Given the description of an element on the screen output the (x, y) to click on. 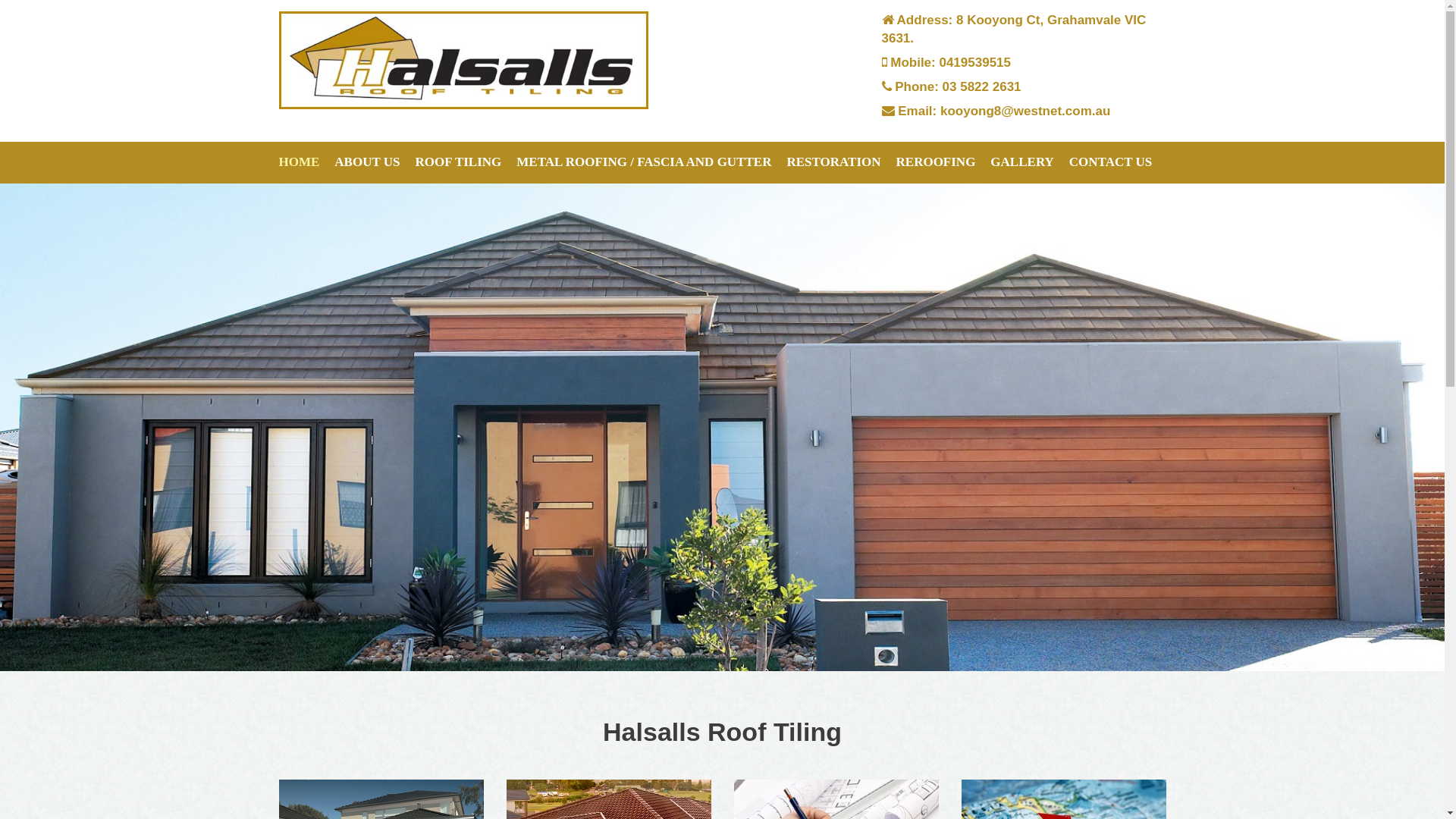
METAL ROOFING / FASCIA AND GUTTER Element type: text (643, 161)
RESTORATION Element type: text (833, 161)
GALLERY Element type: text (1021, 161)
HOME Element type: text (299, 161)
REROOFING Element type: text (935, 161)
ROOF TILING Element type: text (457, 161)
CONTACT US Element type: text (1110, 161)
ABOUT US Element type: text (366, 161)
